Given the description of an element on the screen output the (x, y) to click on. 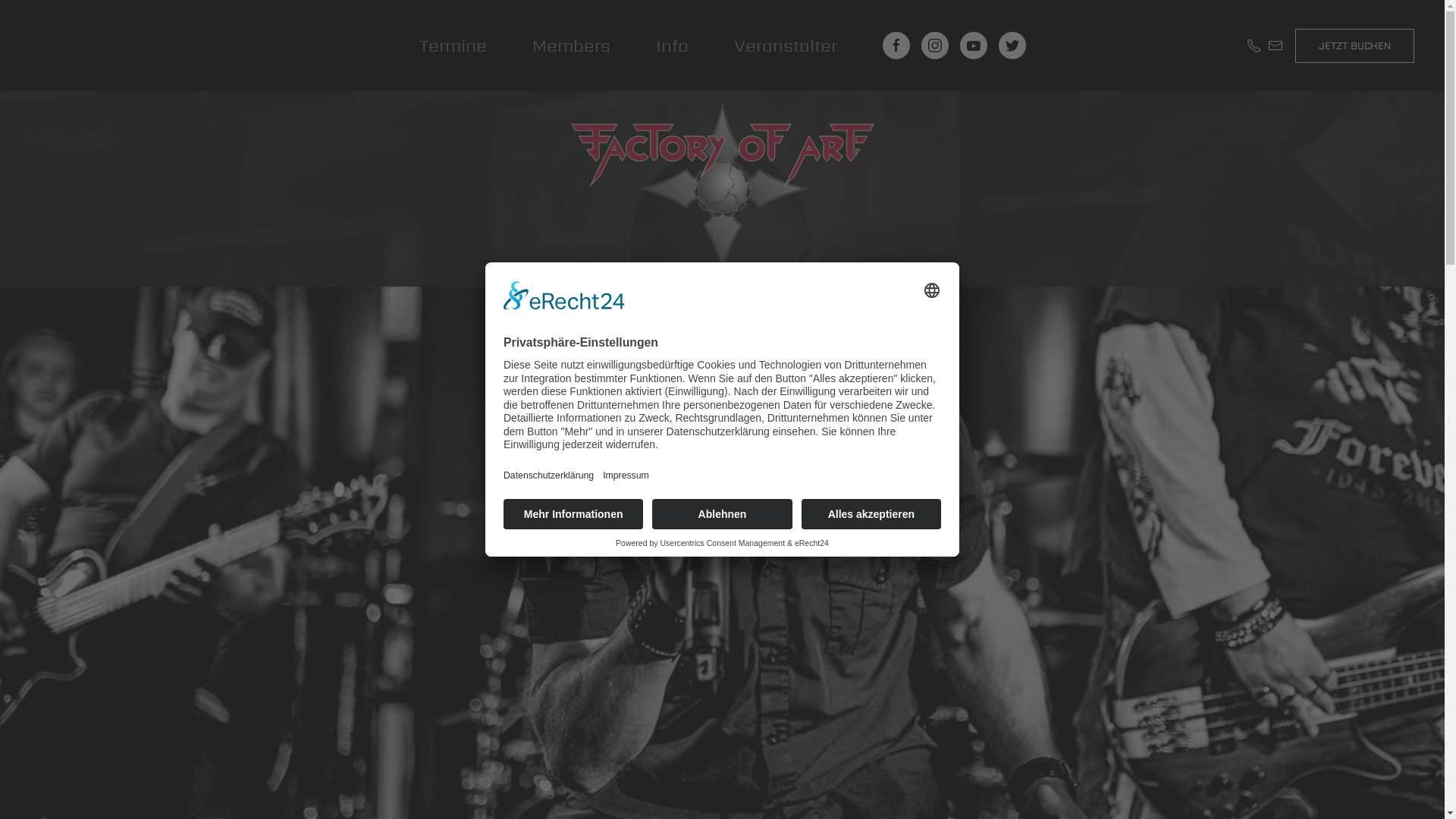
JETZT BUCHEN Element type: text (1354, 45)
Members Element type: text (571, 45)
Info Element type: text (671, 45)
Termine Element type: text (452, 45)
FACTORY OF ART Logo Element type: hover (721, 188)
Veranstalter Element type: text (785, 45)
